Given the description of an element on the screen output the (x, y) to click on. 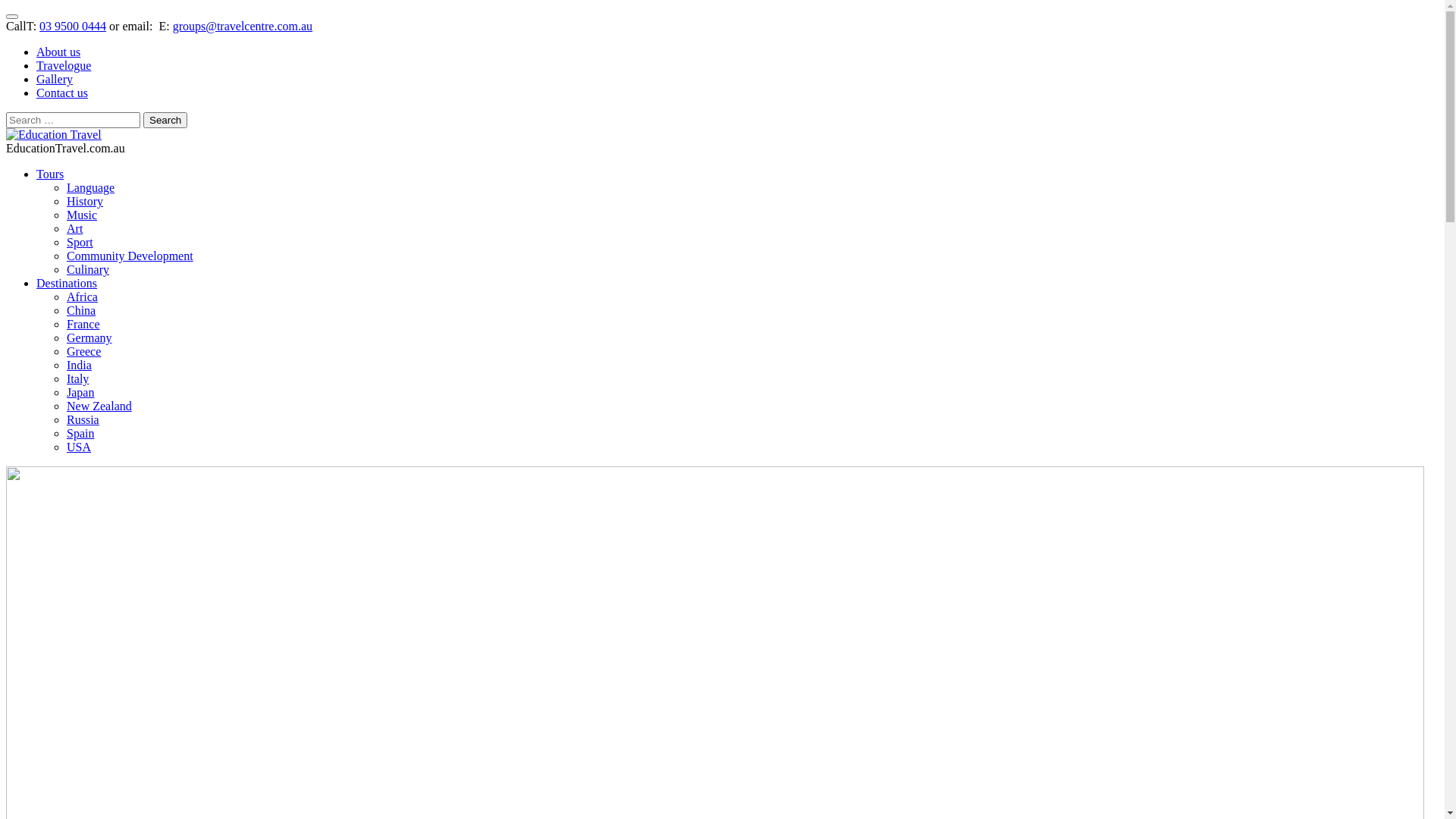
France Element type: text (83, 323)
Search Element type: text (165, 120)
Travelogue Element type: text (63, 65)
Culinary Element type: text (87, 269)
Germany Element type: text (89, 337)
About us Element type: text (58, 51)
India Element type: text (78, 364)
Japan Element type: text (80, 391)
China Element type: text (80, 310)
Art Element type: text (74, 228)
Spain Element type: text (80, 432)
Tours Element type: text (49, 173)
Contact us Element type: text (61, 92)
Destinations Element type: text (66, 282)
History Element type: text (84, 200)
Language Element type: text (90, 187)
Africa Element type: text (81, 296)
Russia Element type: text (82, 419)
groups@travelcentre.com.au Element type: text (242, 25)
USA Element type: text (78, 446)
03 9500 0444 Element type: text (72, 25)
Music Element type: text (81, 214)
Community Development Element type: text (129, 255)
Greece Element type: text (83, 351)
Italy Element type: text (77, 378)
Sport Element type: text (79, 241)
New Zealand Element type: text (98, 405)
Gallery Element type: text (54, 78)
